Given the description of an element on the screen output the (x, y) to click on. 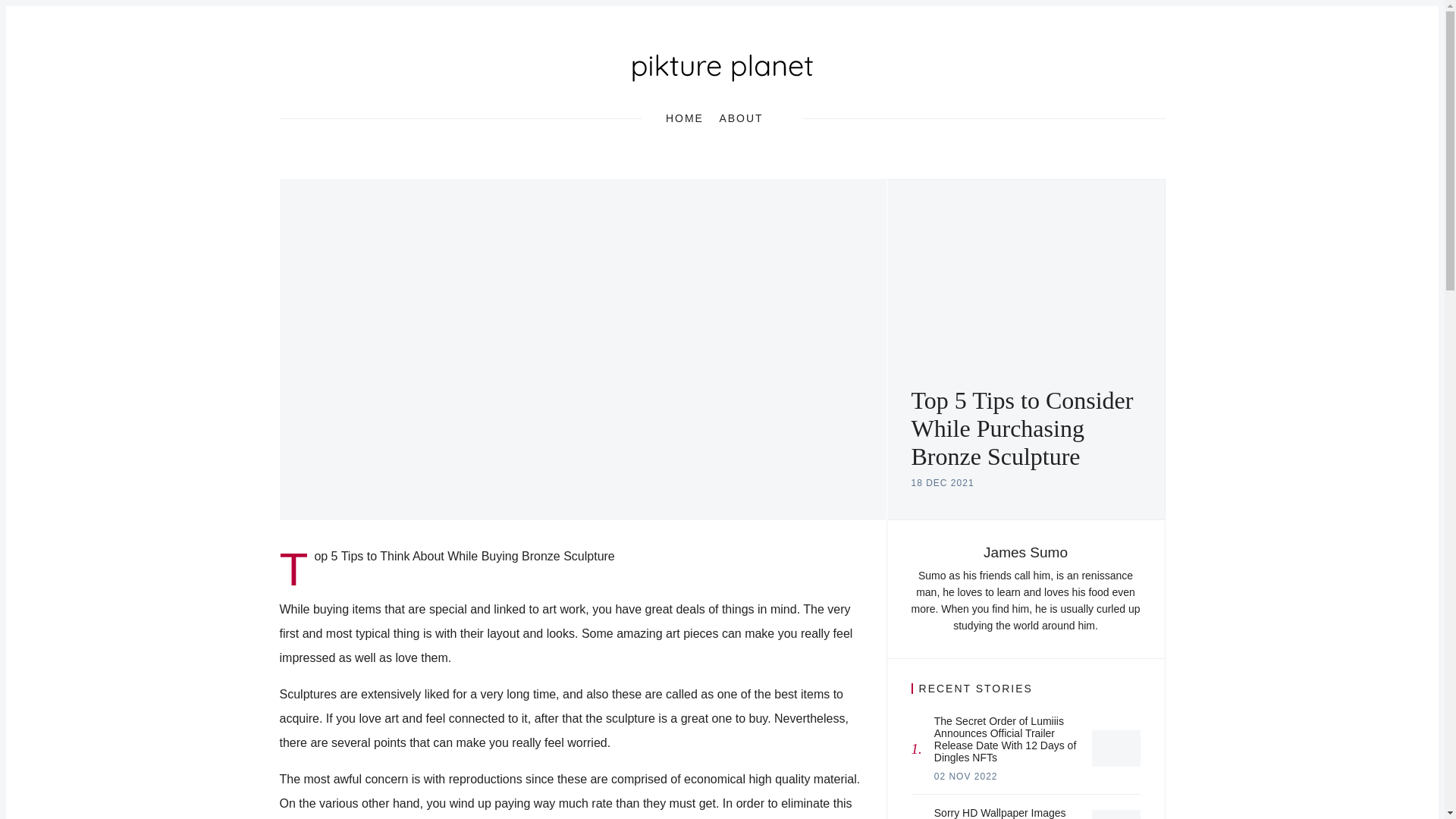
02 Nov 2022 (965, 776)
ABOUT (740, 118)
HOME (684, 118)
